Given the description of an element on the screen output the (x, y) to click on. 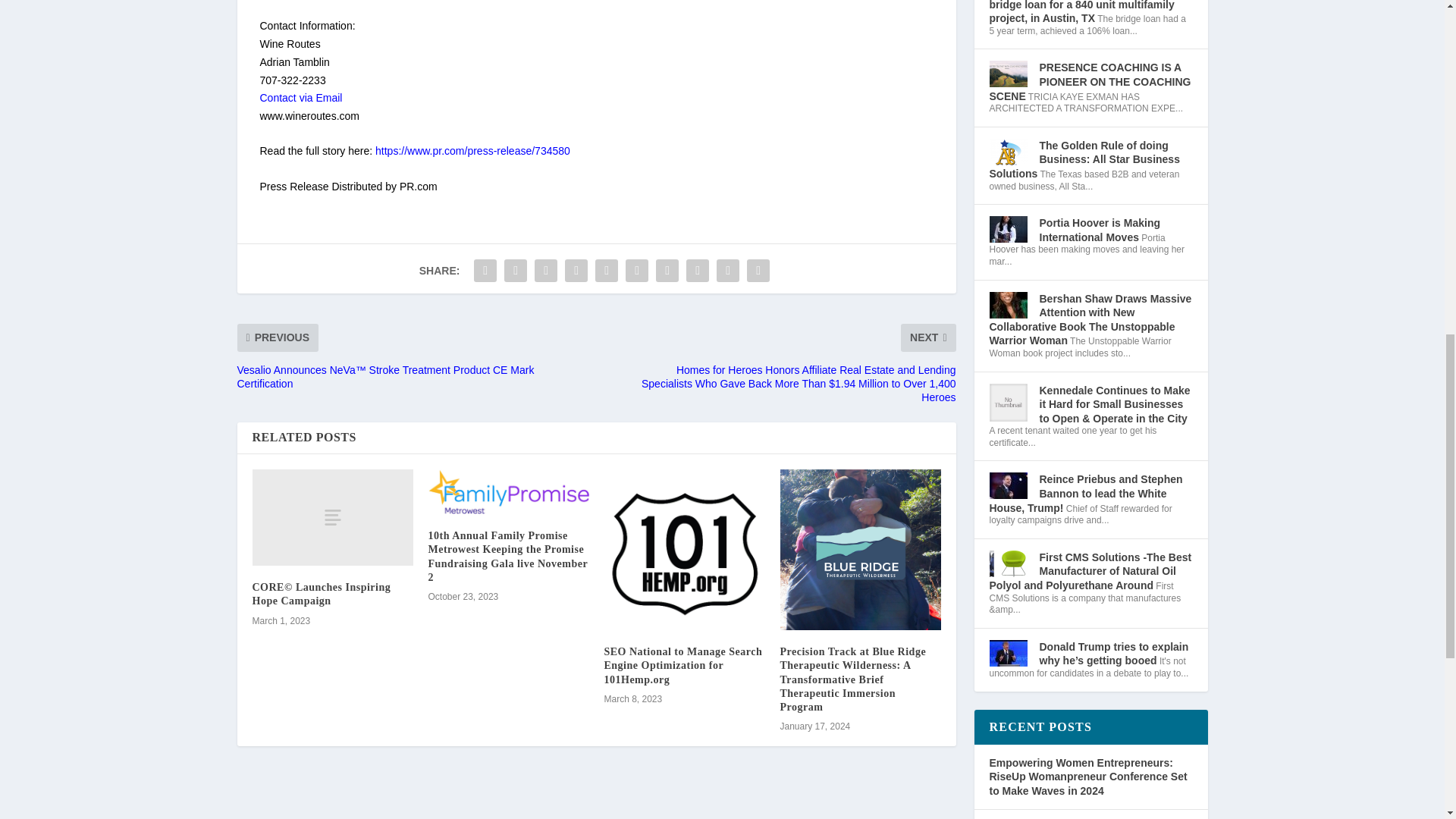
Share "Wine Routes Reinvents Wine Country Travel" via Buffer (667, 270)
Share "Wine Routes Reinvents Wine Country Travel" via Tumblr (575, 270)
Share "Wine Routes Reinvents Wine Country Travel" via Print (757, 270)
Contact via Email (300, 97)
Share "Wine Routes Reinvents Wine Country Travel" via Email (727, 270)
